Given the description of an element on the screen output the (x, y) to click on. 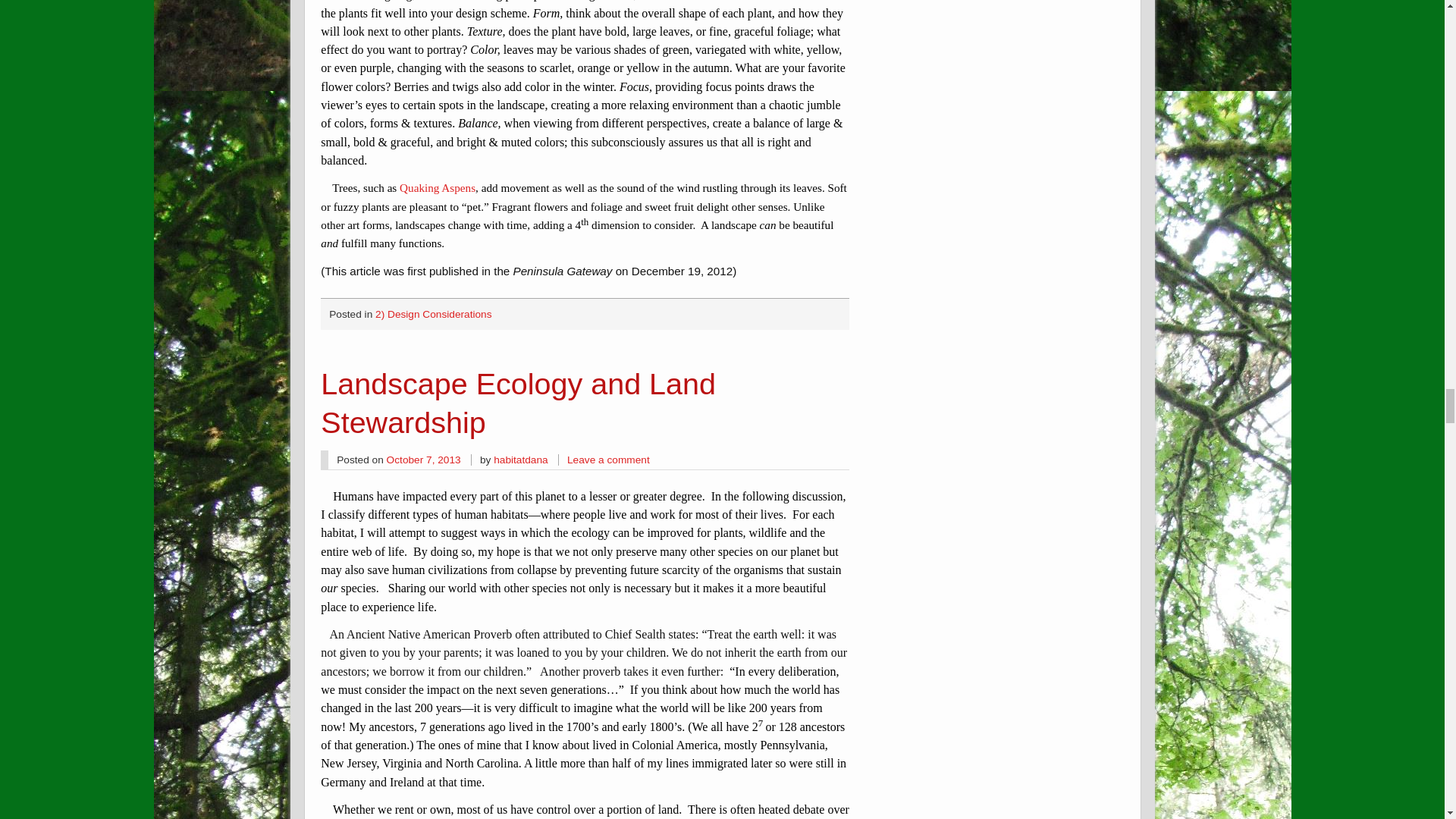
1:38 PM (424, 460)
View all posts by habitatdana (520, 460)
